Given the description of an element on the screen output the (x, y) to click on. 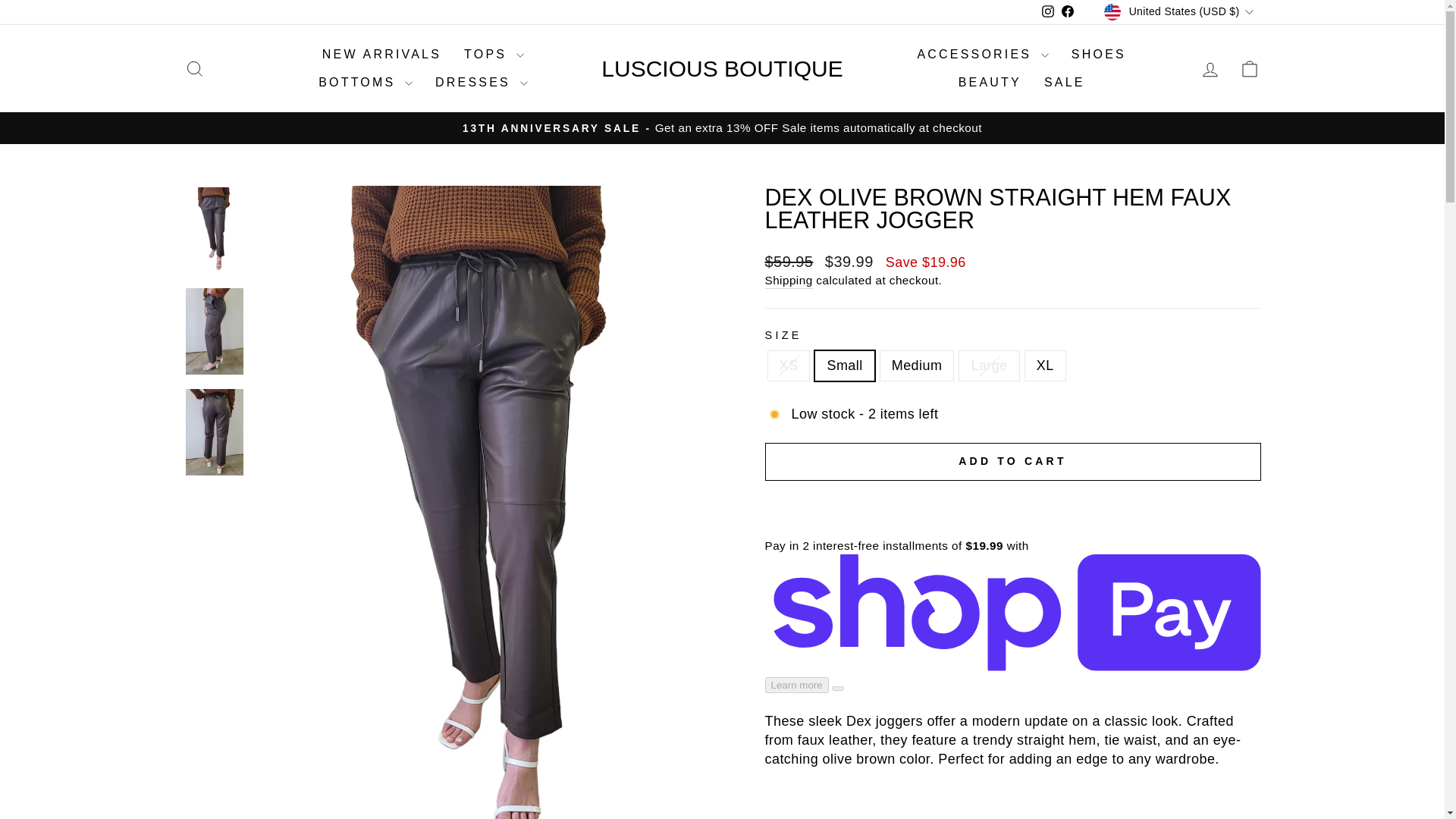
ICON-SEARCH (194, 68)
instagram (1048, 10)
ACCOUNT (1210, 69)
ICON-BAG-MINIMAL (1249, 68)
Medium (194, 68)
